Given the description of an element on the screen output the (x, y) to click on. 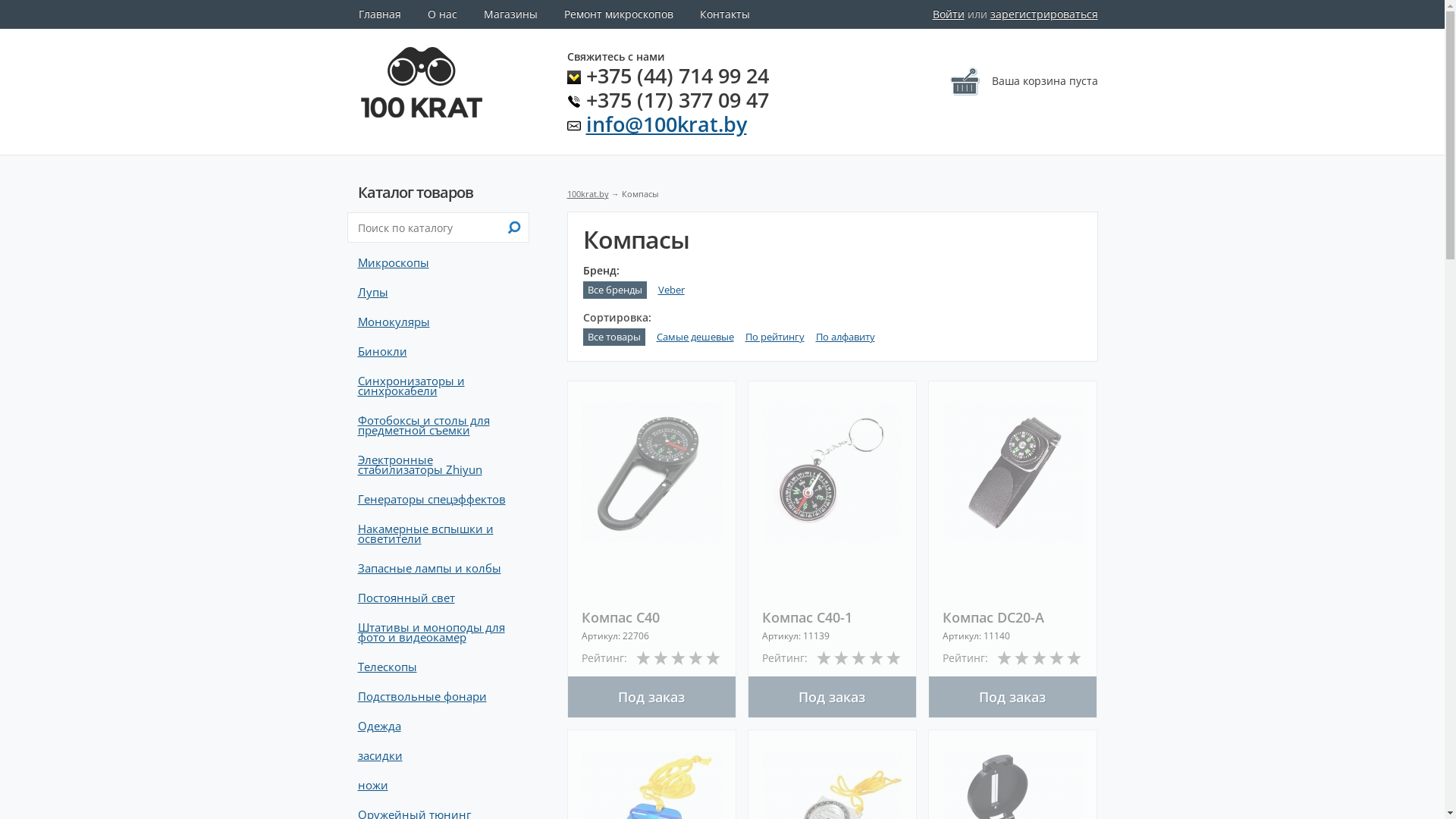
info@100krat.by Element type: text (665, 123)
100krat.by Element type: text (587, 193)
Veber Element type: text (671, 289)
